Given the description of an element on the screen output the (x, y) to click on. 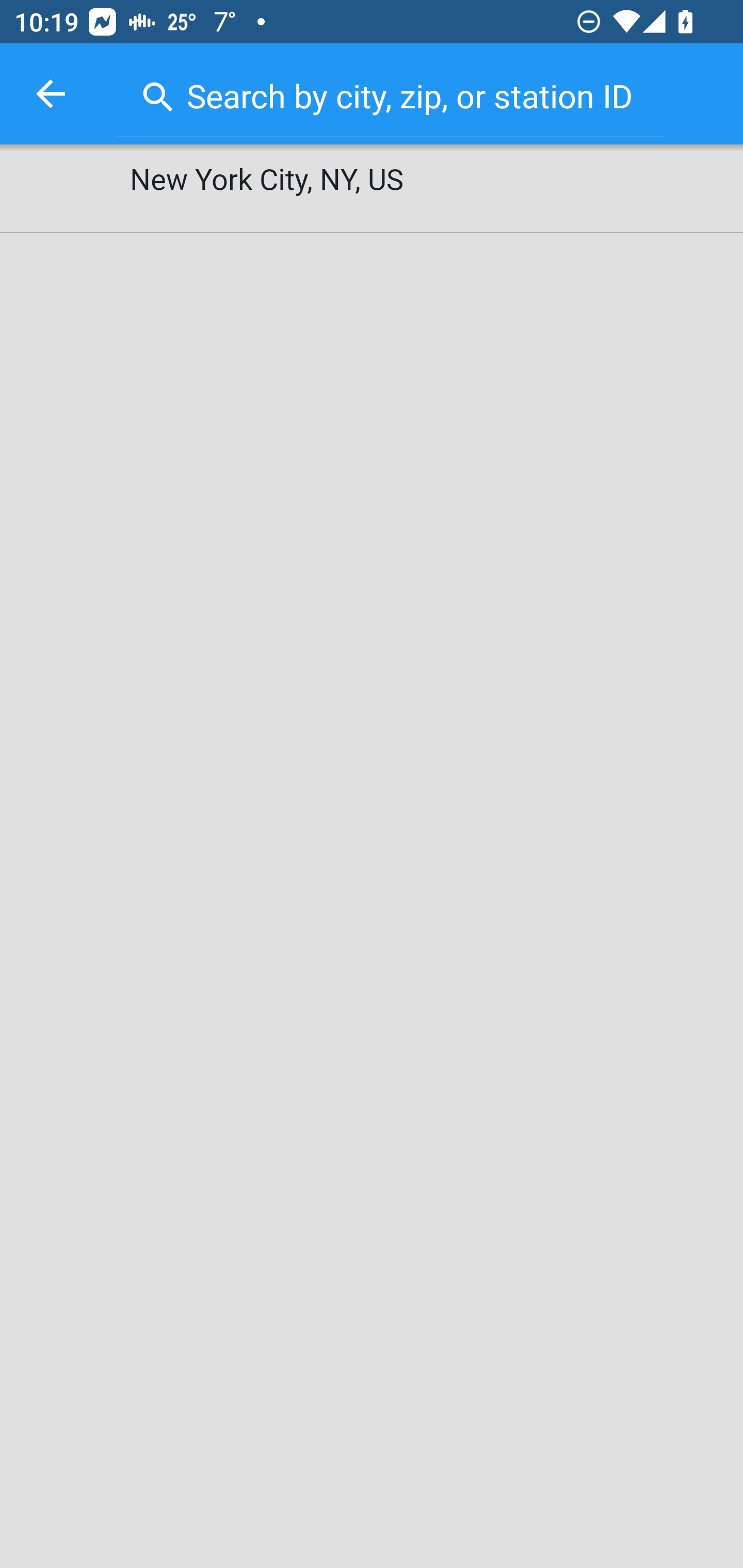
back (50, 93)
   Search by city, zip, or station ID (389, 92)
New York City, NY, US (371, 188)
